Given the description of an element on the screen output the (x, y) to click on. 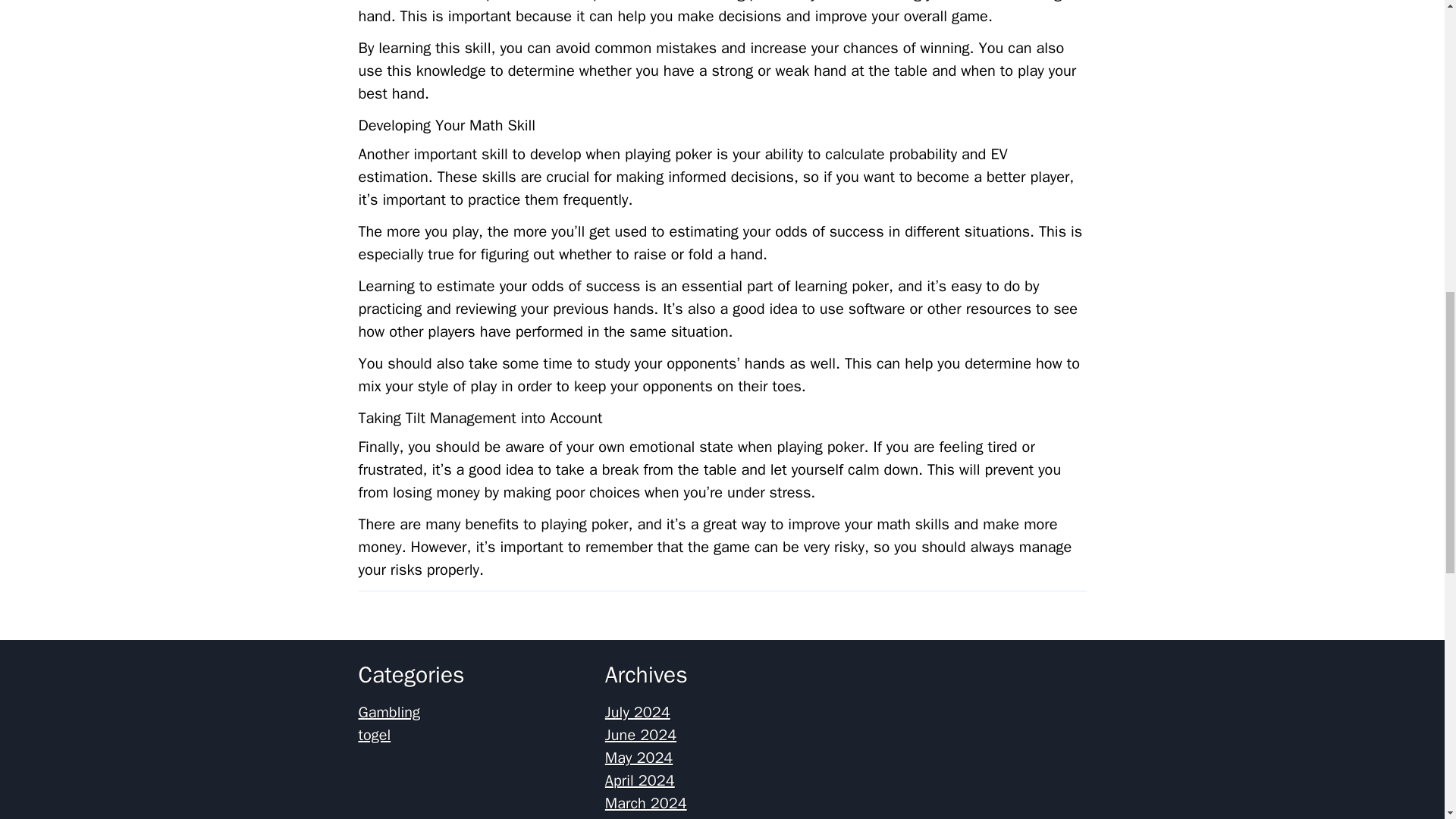
February 2024 (653, 817)
Gambling (388, 711)
June 2024 (641, 734)
togel (374, 734)
May 2024 (638, 757)
April 2024 (640, 780)
July 2024 (637, 711)
March 2024 (646, 803)
